Given the description of an element on the screen output the (x, y) to click on. 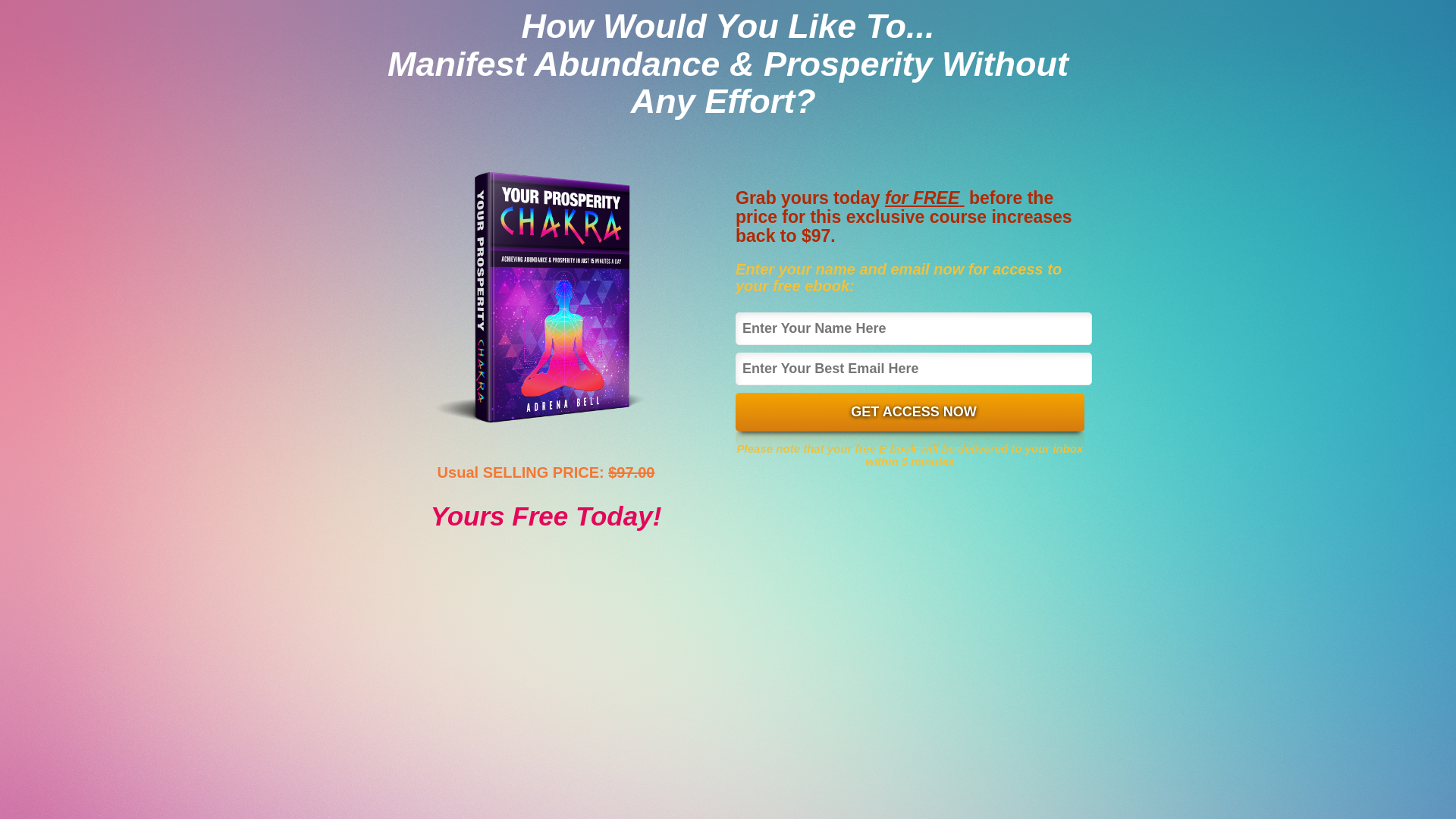
Get Access Now (909, 412)
Get Access Now (909, 412)
